Given the description of an element on the screen output the (x, y) to click on. 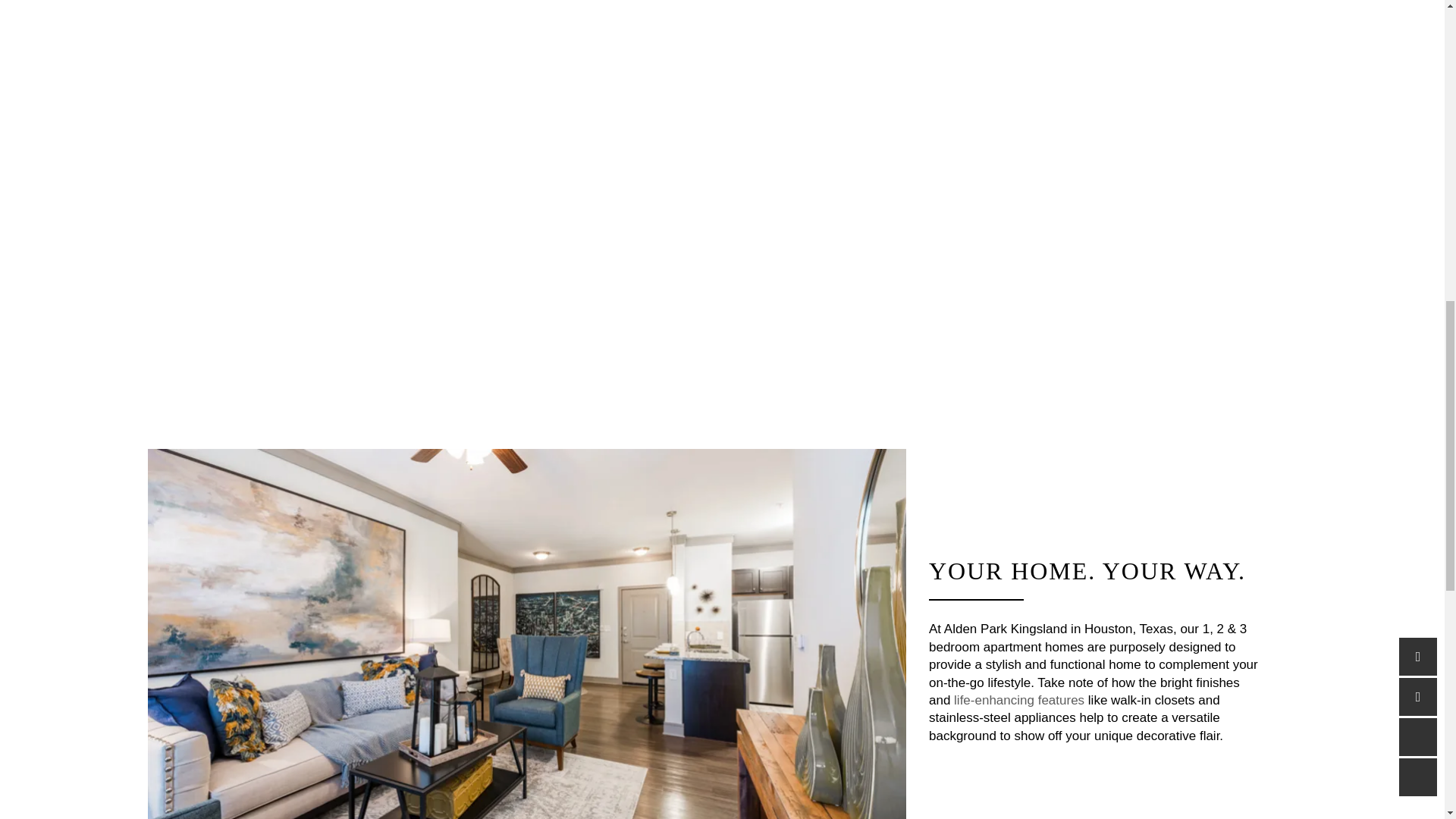
life-enhancing features (1018, 699)
